Given the description of an element on the screen output the (x, y) to click on. 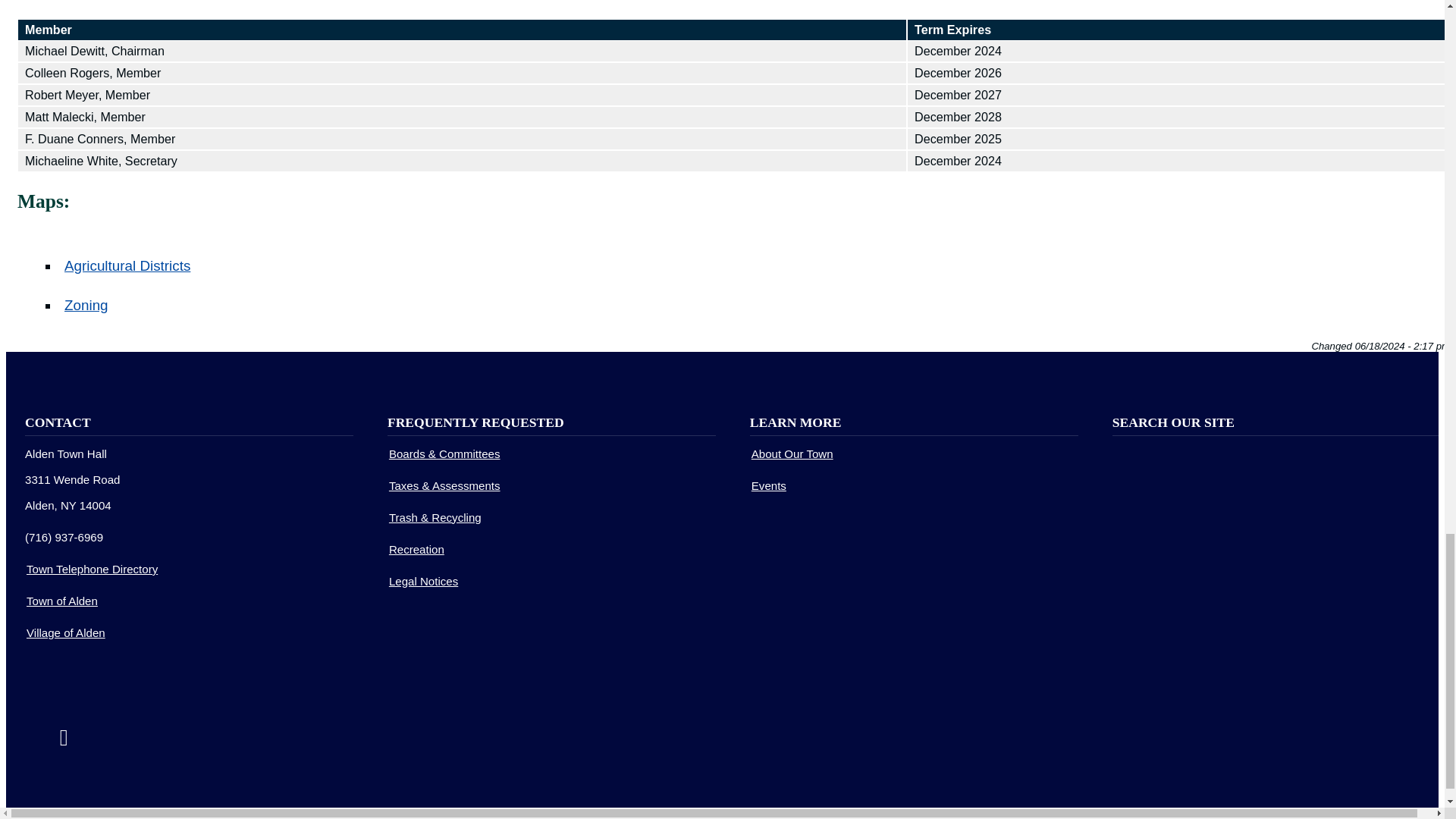
Zoning (86, 304)
Town Telephone Directory (91, 569)
Village of Alden (65, 632)
Agricultural Districts (127, 265)
Town of Alden (61, 600)
